Given the description of an element on the screen output the (x, y) to click on. 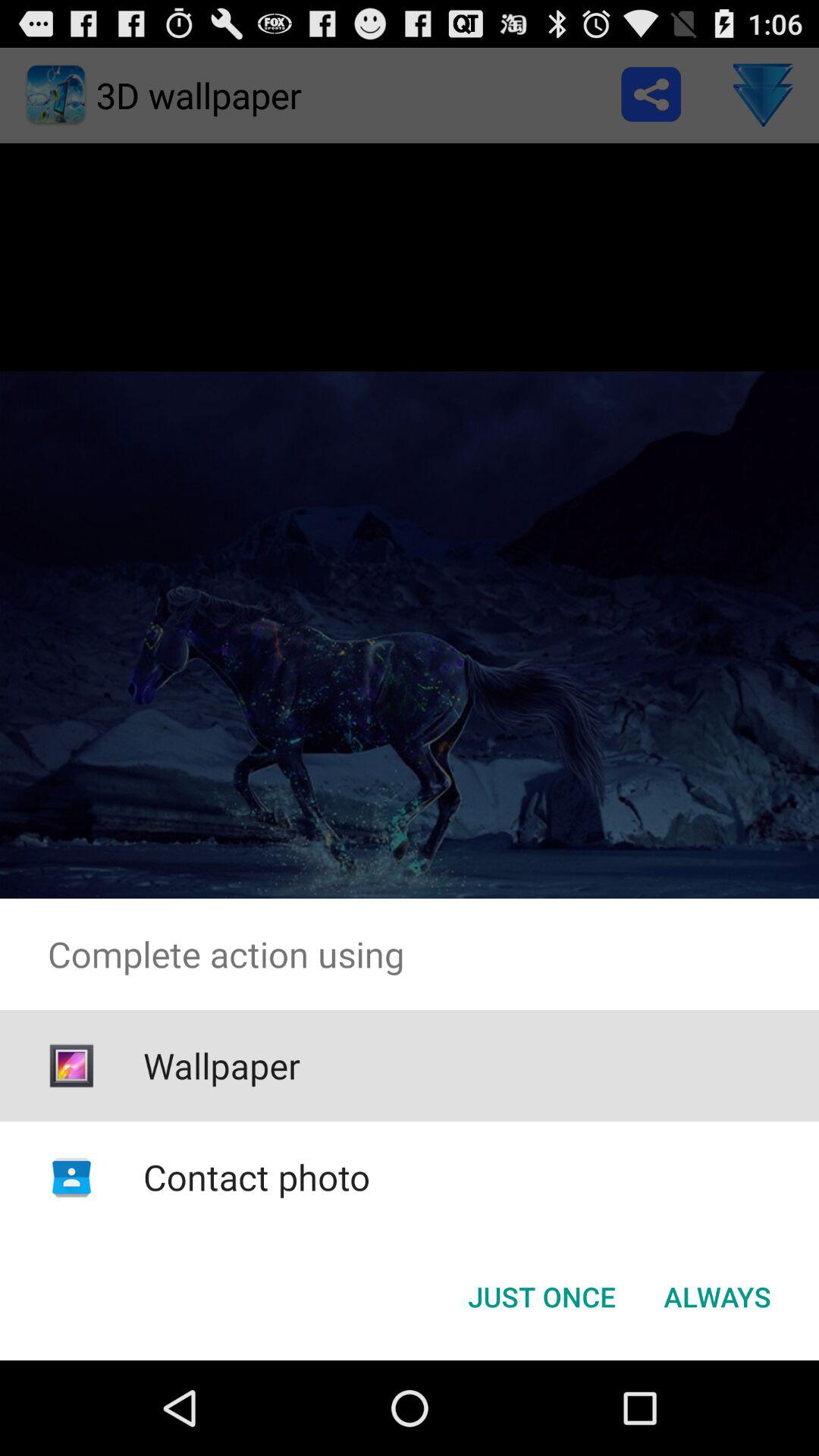
press the item at the bottom right corner (717, 1296)
